Given the description of an element on the screen output the (x, y) to click on. 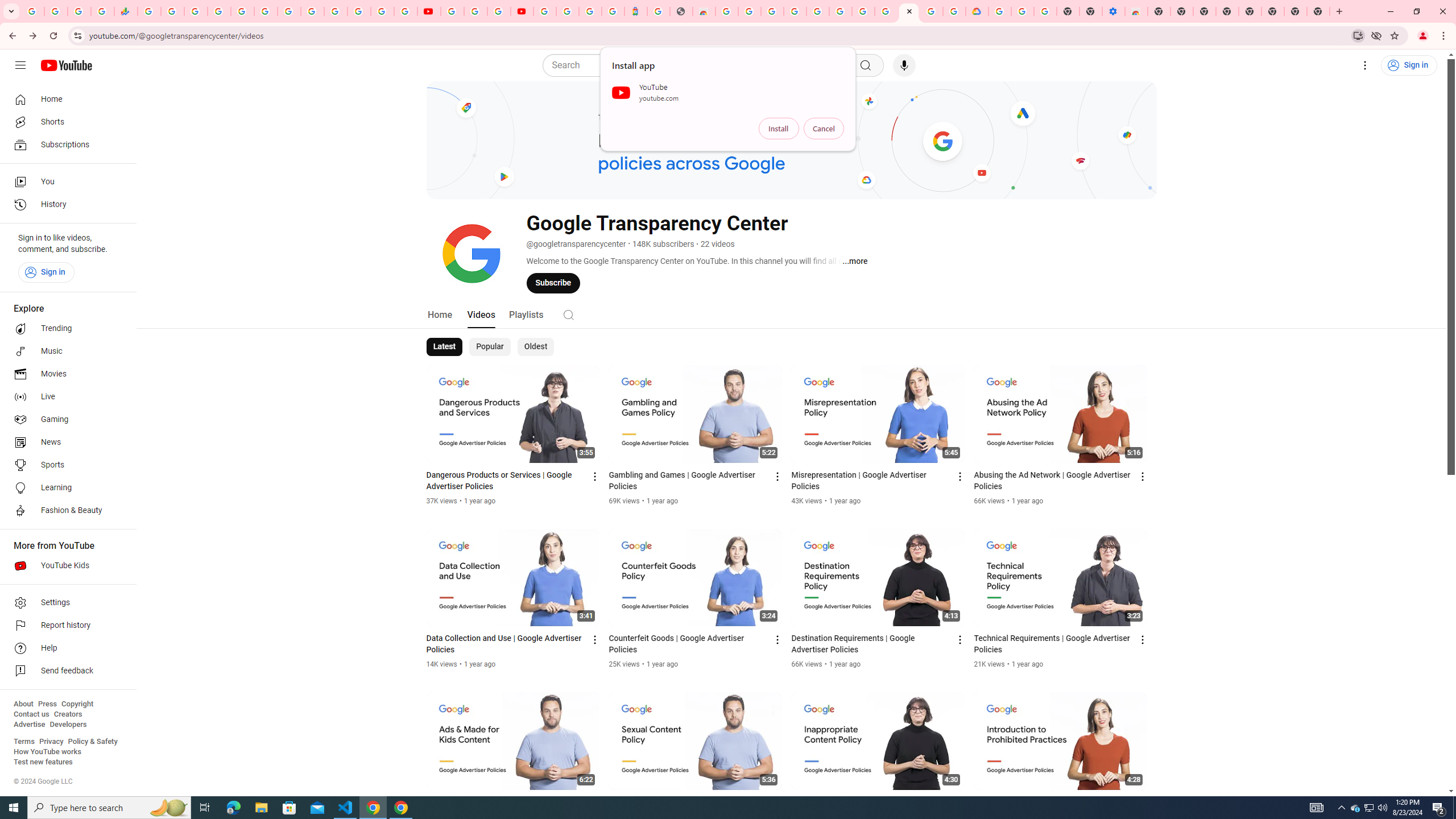
Sign in - Google Accounts (817, 11)
YouTube Home (66, 65)
Sign in - Google Accounts (567, 11)
Creators (67, 714)
Google Workspace Admin Community (32, 11)
Developers (68, 724)
Action menu (1142, 802)
Google Transparency Center - YouTube (909, 11)
YouTube Kids (64, 565)
